Given the description of an element on the screen output the (x, y) to click on. 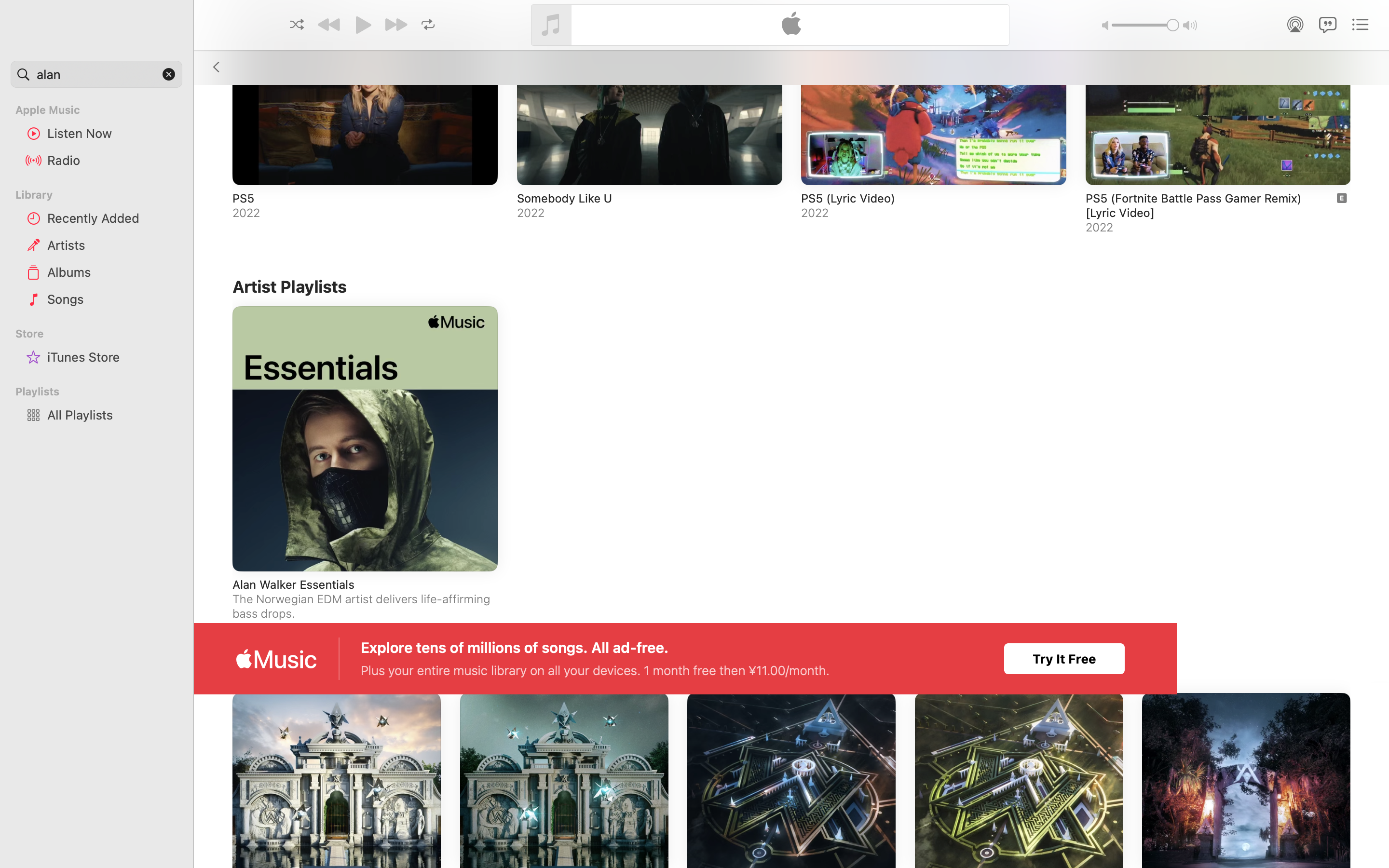
Playlists Element type: AXStaticText (101, 391)
alan Element type: AXTextField (96, 73)
Albums Element type: AXStaticText (111, 271)
1.0 Element type: AXSlider (1144, 24)
